Given the description of an element on the screen output the (x, y) to click on. 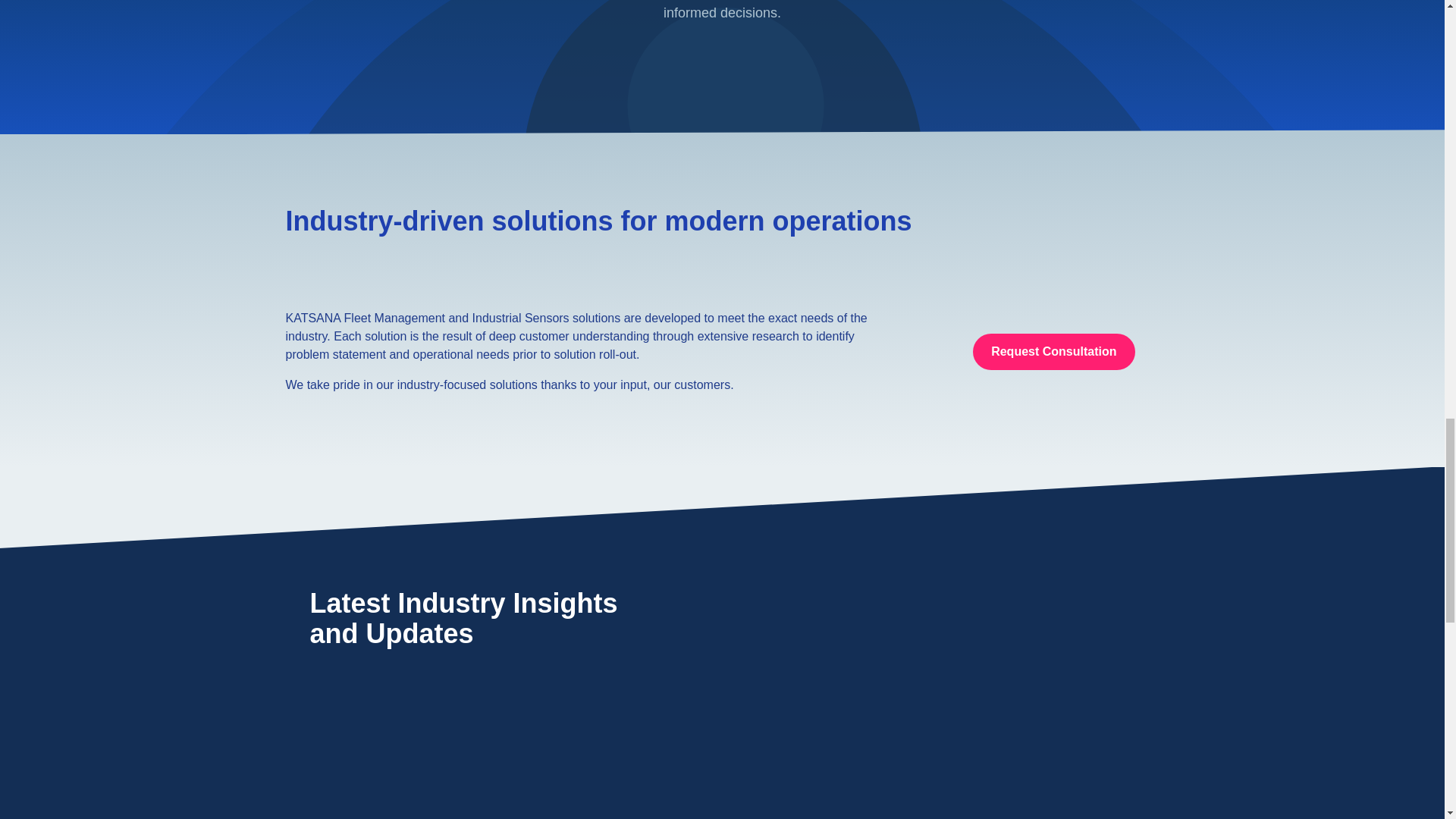
Request Consultation (1053, 351)
